Given the description of an element on the screen output the (x, y) to click on. 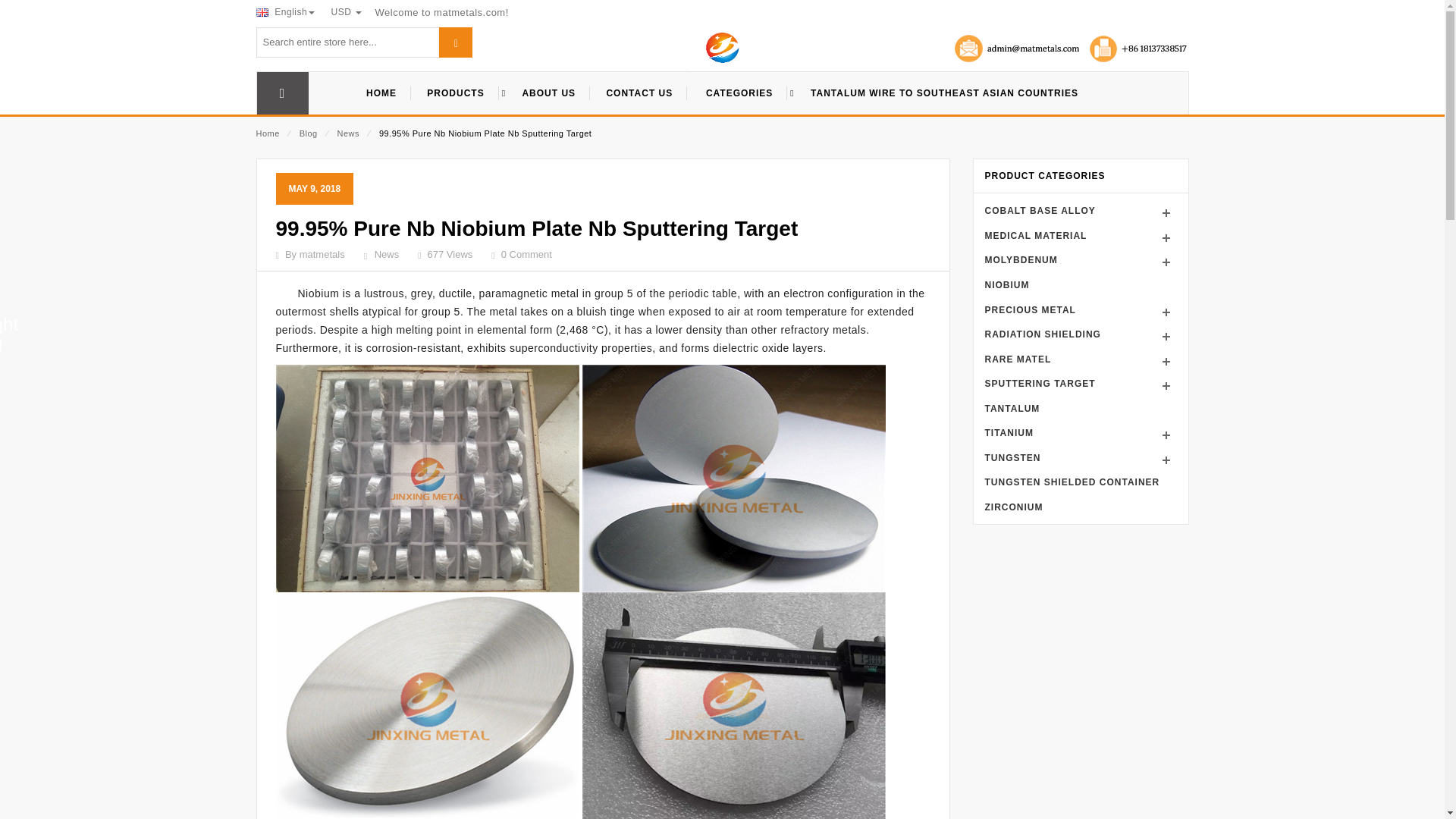
English (285, 11)
PRODUCTS (459, 93)
USD (346, 11)
matmetals (721, 51)
HOME (381, 93)
